Given the description of an element on the screen output the (x, y) to click on. 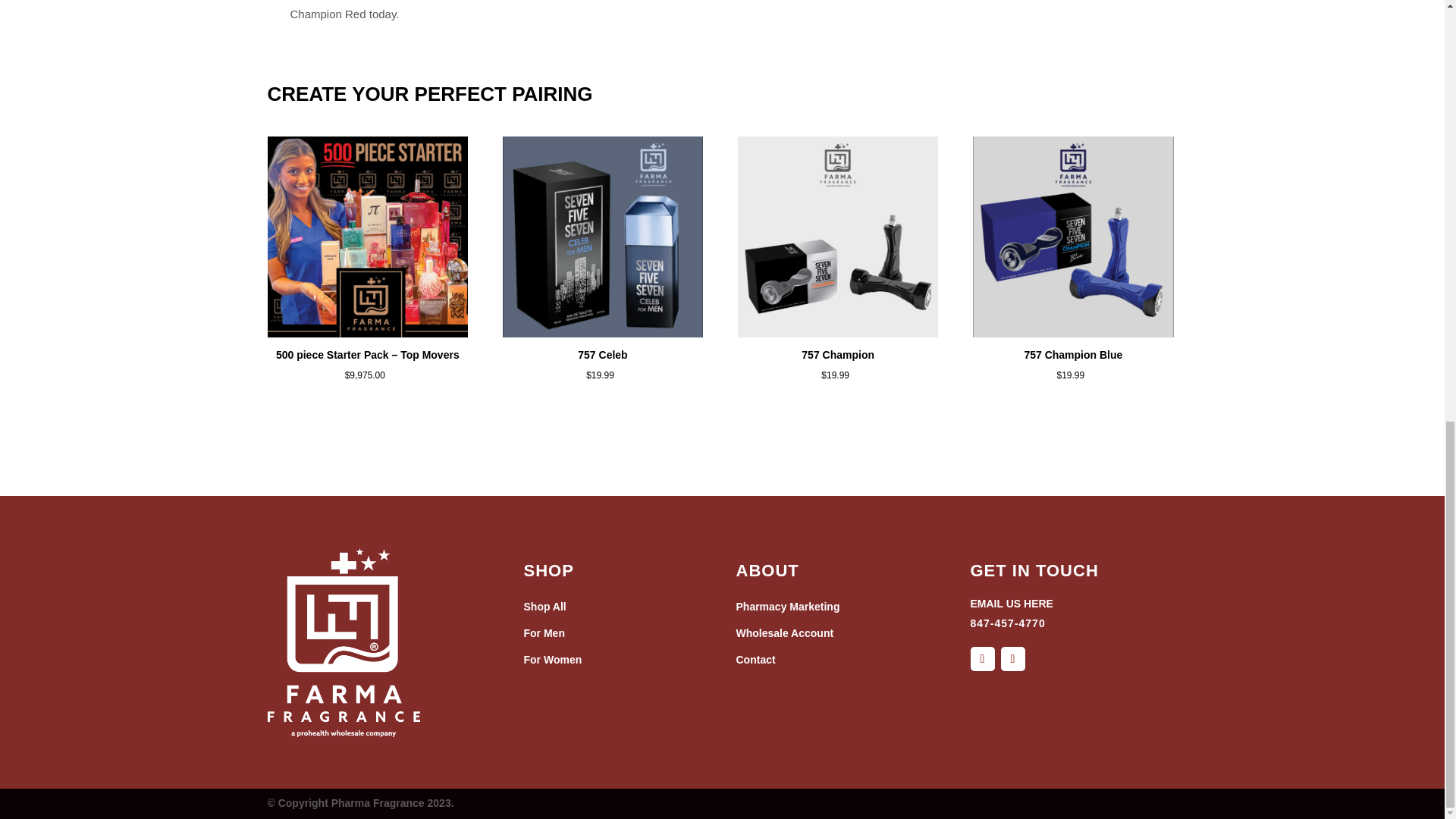
Pharmacy Marketing (787, 606)
Follow on Instagram (1013, 658)
For Men (543, 633)
Shop All (544, 606)
Follow on Facebook (982, 658)
For Women (551, 659)
Wholesale Account (783, 633)
